Given the description of an element on the screen output the (x, y) to click on. 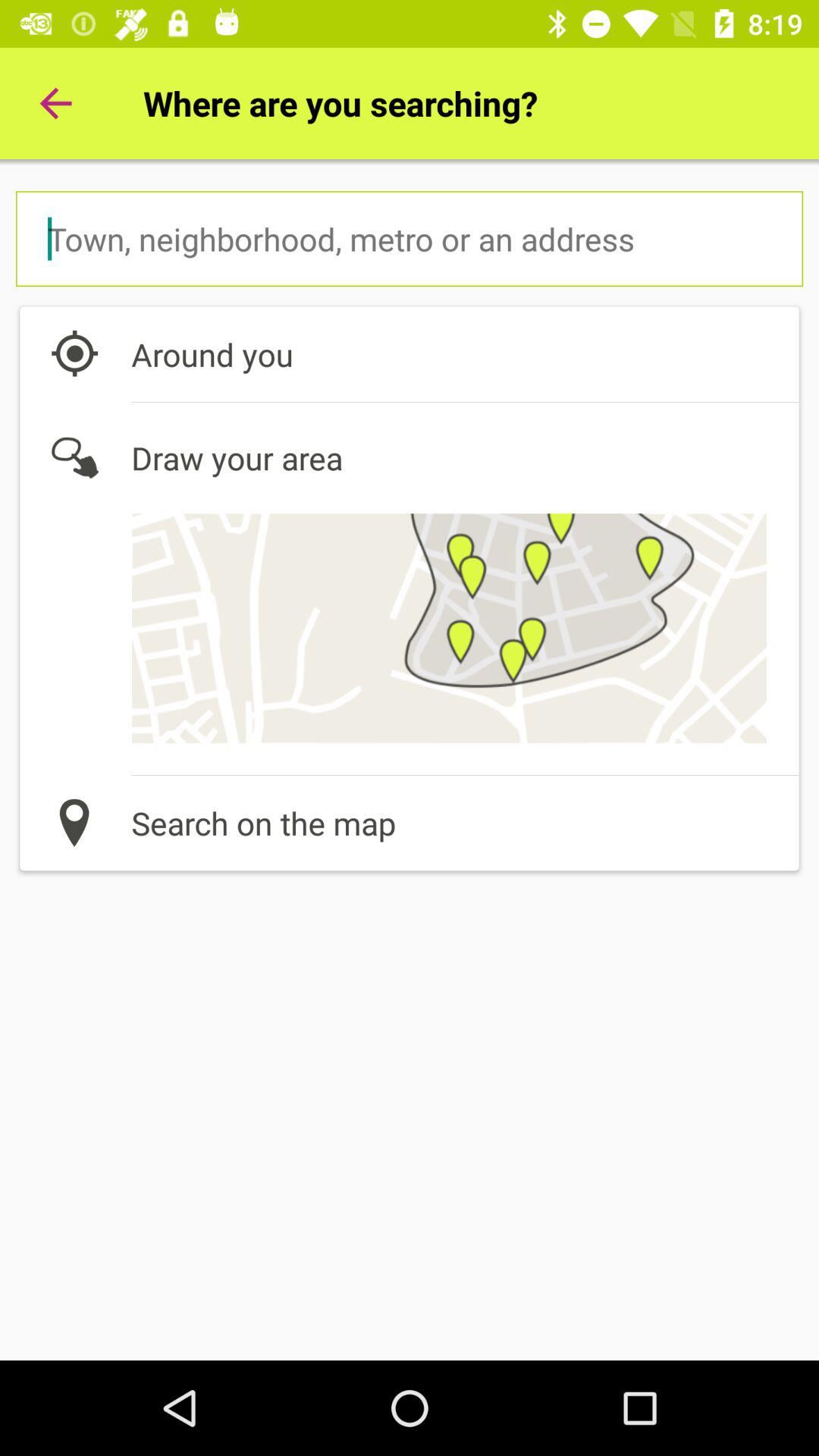
press item next to where are you item (55, 103)
